Given the description of an element on the screen output the (x, y) to click on. 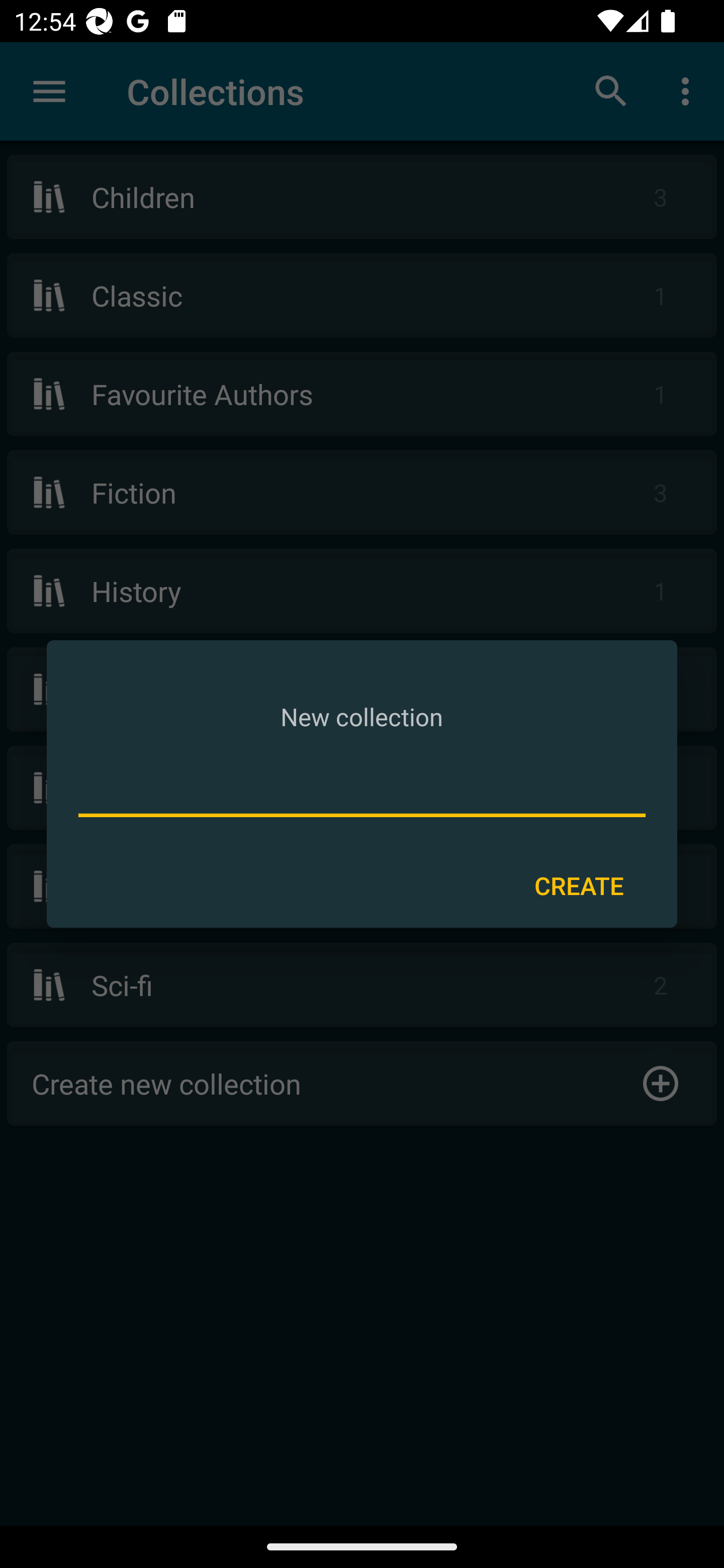
CREATE (578, 885)
